Given the description of an element on the screen output the (x, y) to click on. 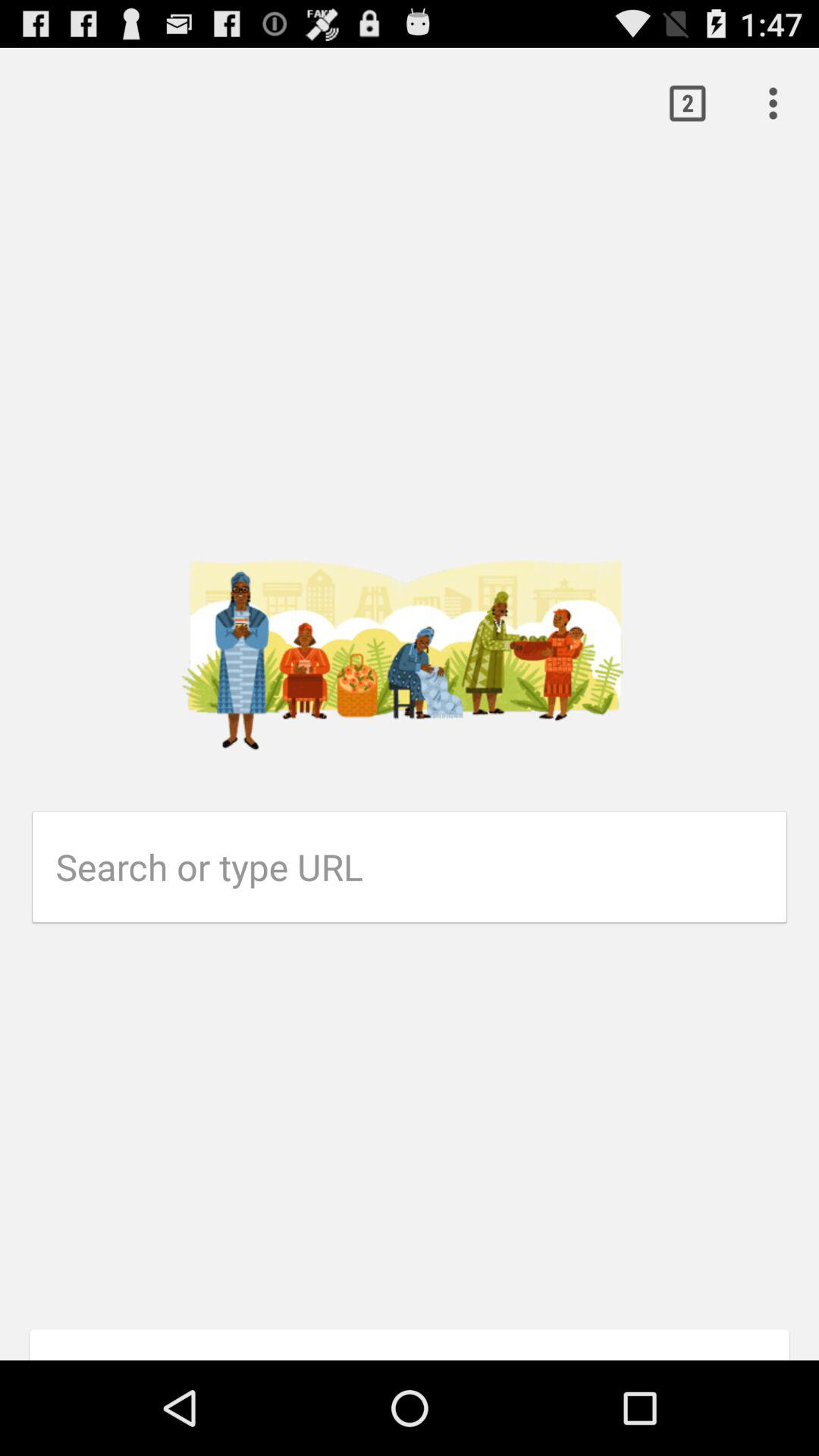
search url option (421, 866)
